Given the description of an element on the screen output the (x, y) to click on. 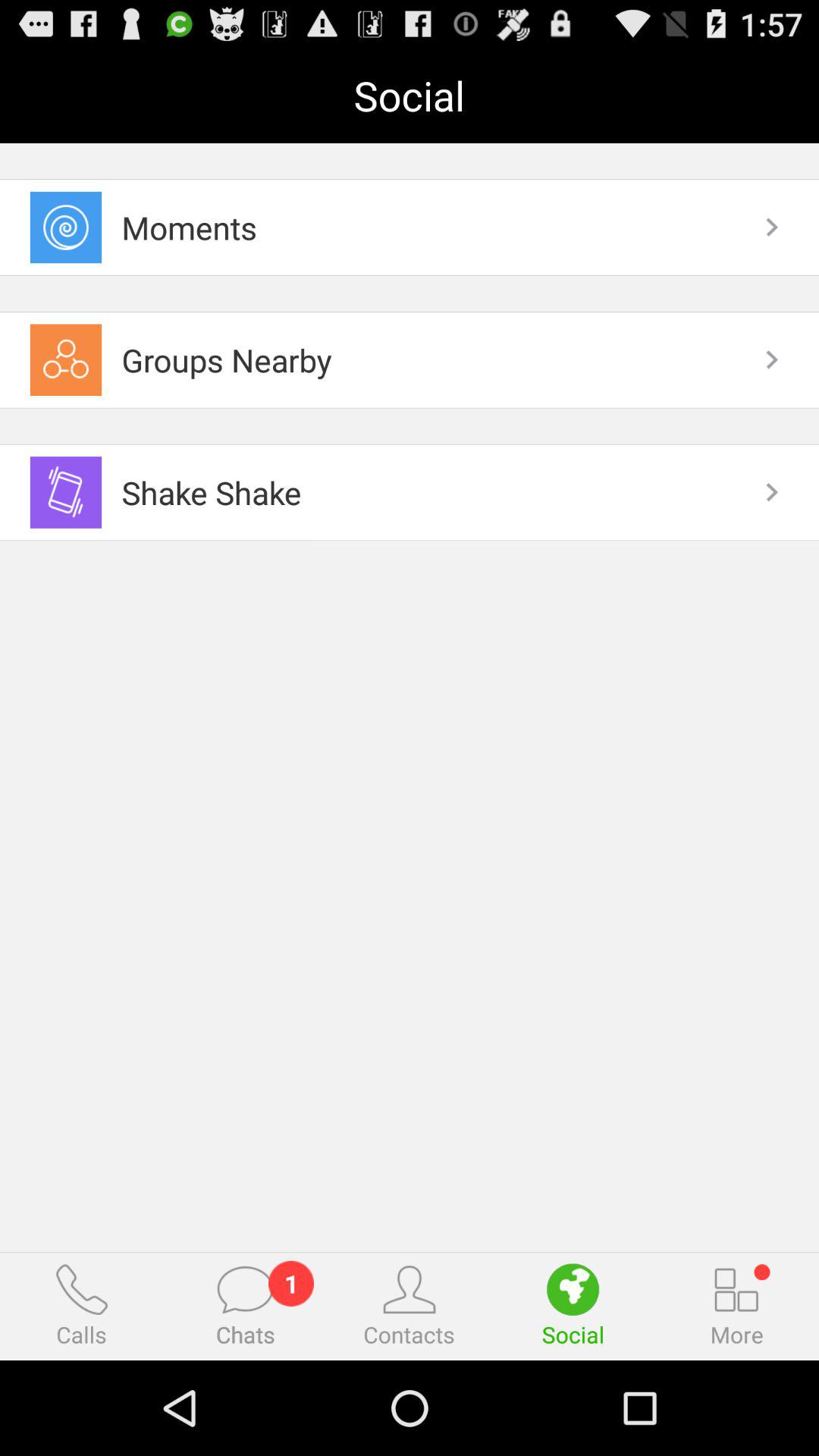
click on telephone symbol (81, 1289)
click on the second icon from the left (245, 1289)
click on front arrow which is beside moments (771, 226)
click on the globe symbol which is right hand side of contacts (572, 1289)
